Given the description of an element on the screen output the (x, y) to click on. 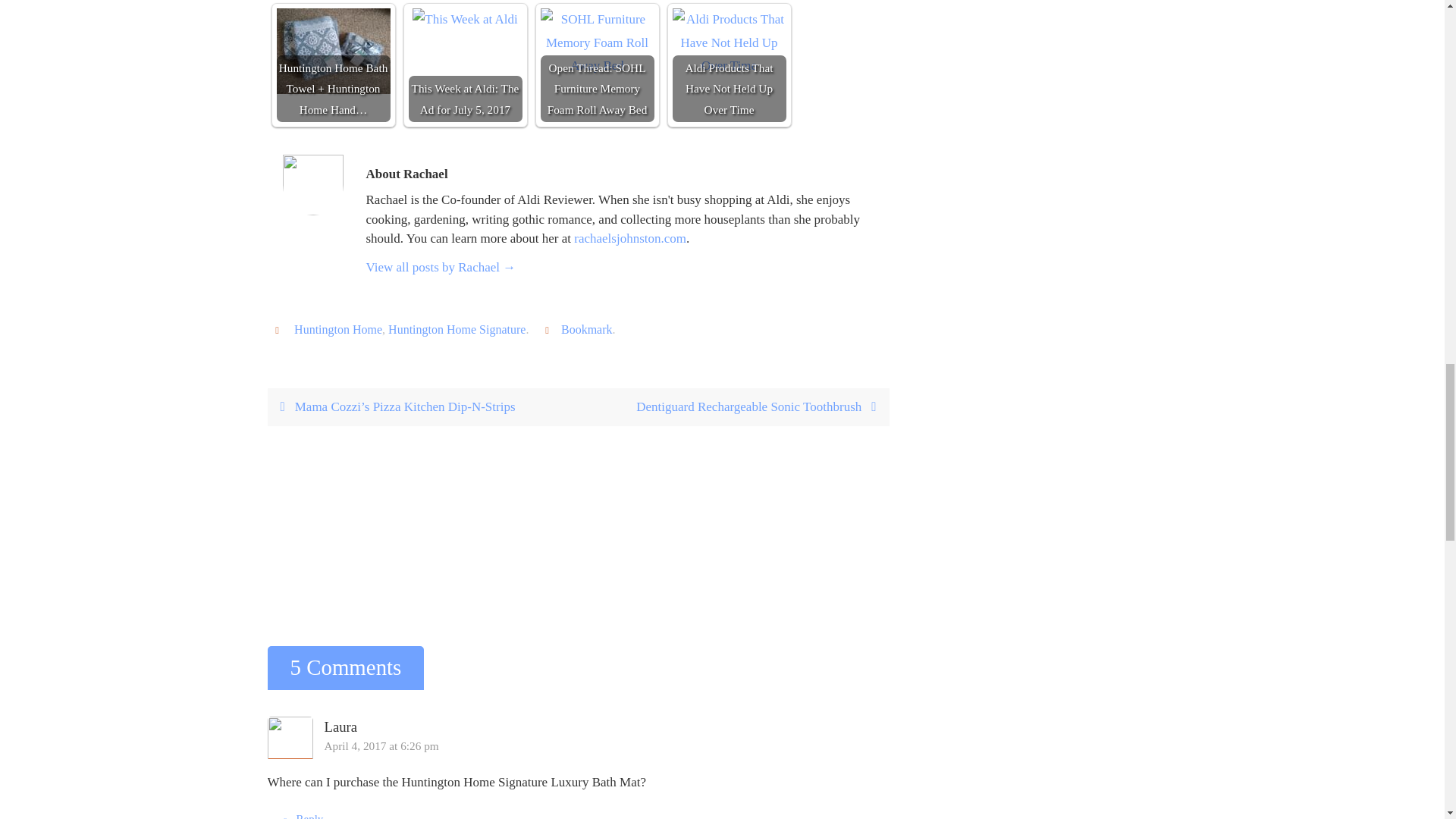
Aldi Products That Have Not Held Up Over Time (728, 42)
This Week at Aldi: The Ad for July 5, 2017 (464, 65)
Dentiguard Rechargeable Sonic Toothbrush (733, 407)
Open Thread: SOHL Furniture Memory Foam Roll Away Bed (596, 42)
rachaelsjohnston.com (629, 237)
Huntington Home Signature (456, 329)
This Week at Aldi: The Ad for July 5, 2017 (465, 19)
Reply (300, 811)
Open Thread: SOHL Furniture Memory Foam Roll Away Bed (596, 65)
